Given the description of an element on the screen output the (x, y) to click on. 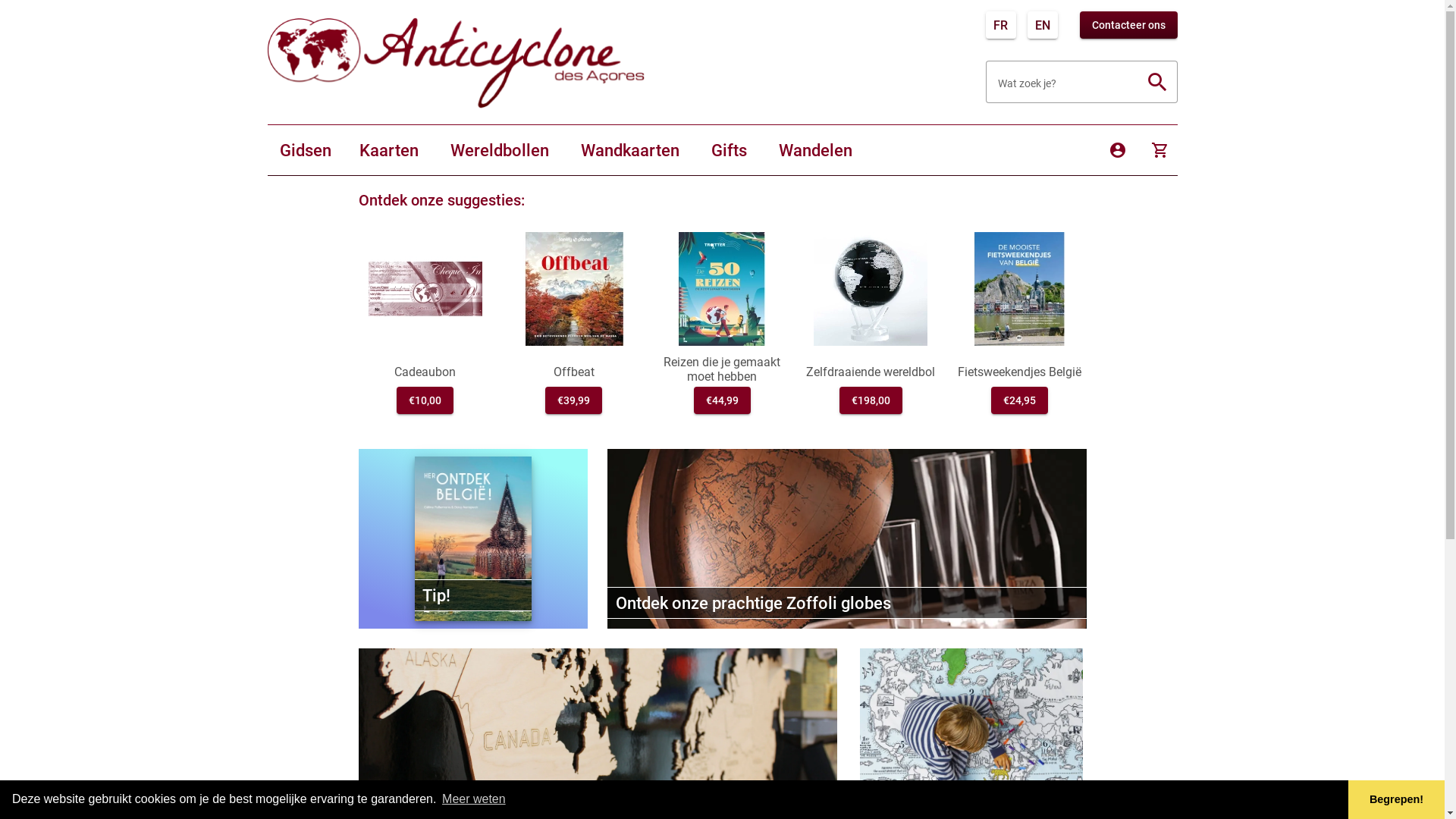
shopping_cart Element type: text (1159, 149)
Gidsen Element type: text (304, 150)
FR Element type: text (1000, 24)
Wereldbollen Element type: text (499, 150)
Kaarten Element type: text (388, 150)
EN Element type: text (1042, 24)
Meer weten Element type: text (473, 798)
Wandelen Element type: text (814, 150)
account_circle Element type: text (1116, 149)
Wandkaarten Element type: text (629, 150)
Gifts Element type: text (729, 150)
Contacteer ons Element type: text (1128, 24)
